Given the description of an element on the screen output the (x, y) to click on. 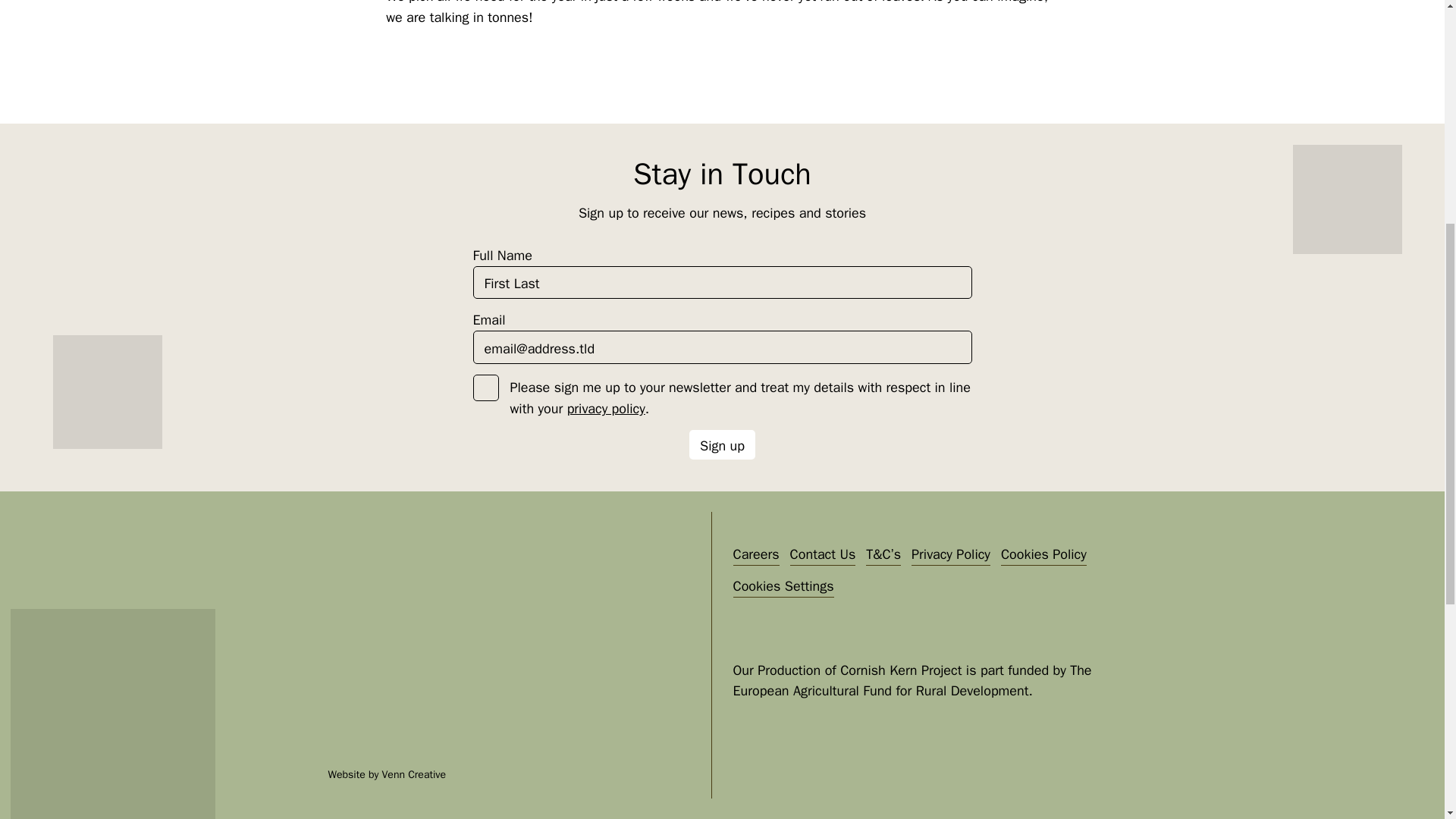
Link opens in a new tab (413, 775)
